Given the description of an element on the screen output the (x, y) to click on. 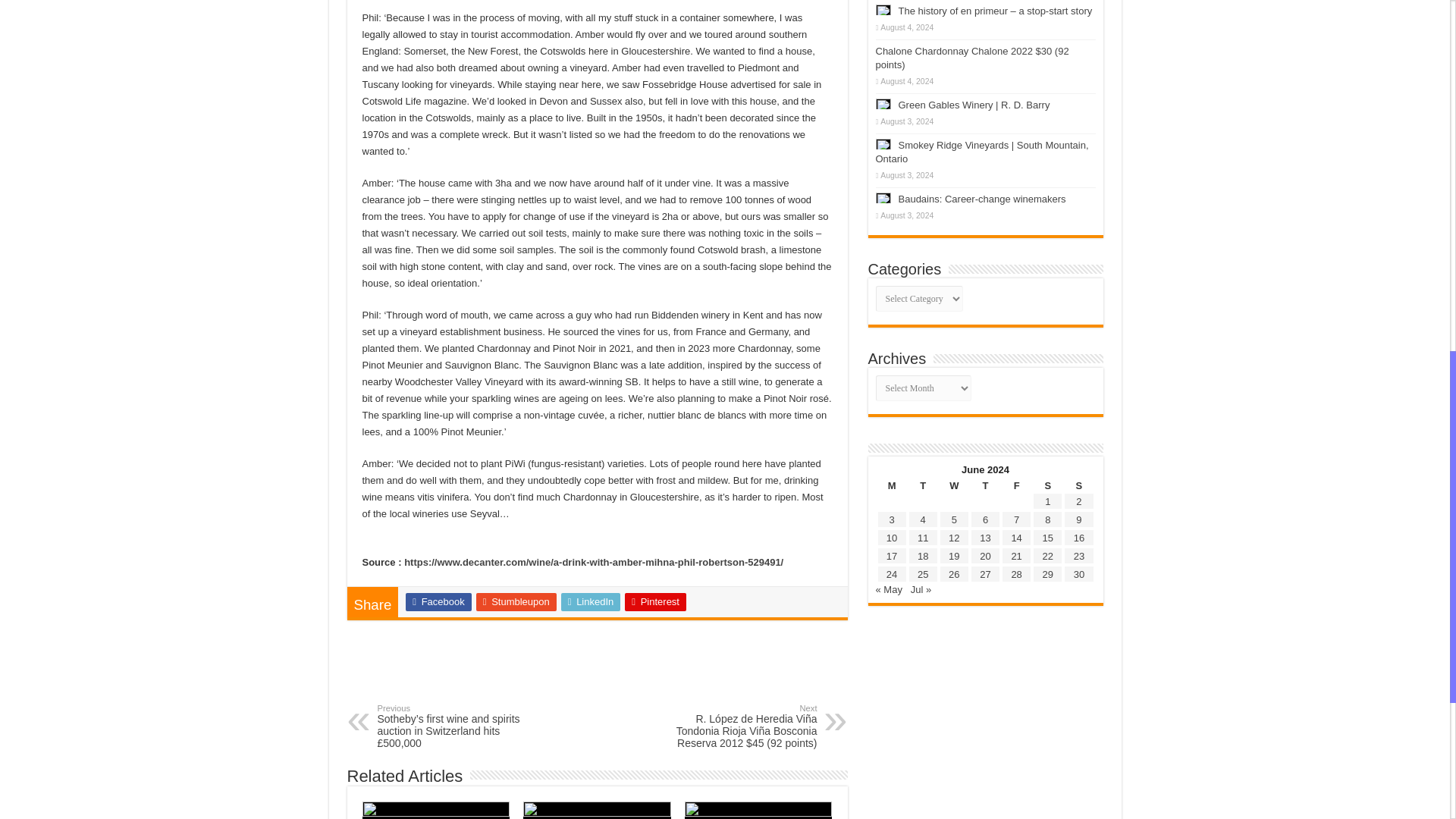
12 (954, 537)
1 (1047, 501)
8 (1047, 519)
Baudains: Career-change winemakers (981, 198)
9 (1078, 519)
Monday (890, 485)
Stumbleupon (516, 601)
Pinterest (654, 601)
Saturday (1047, 485)
2 (1078, 501)
Tuesday (922, 485)
Facebook (438, 601)
5 (954, 519)
Sunday (1078, 485)
3 (890, 519)
